Given the description of an element on the screen output the (x, y) to click on. 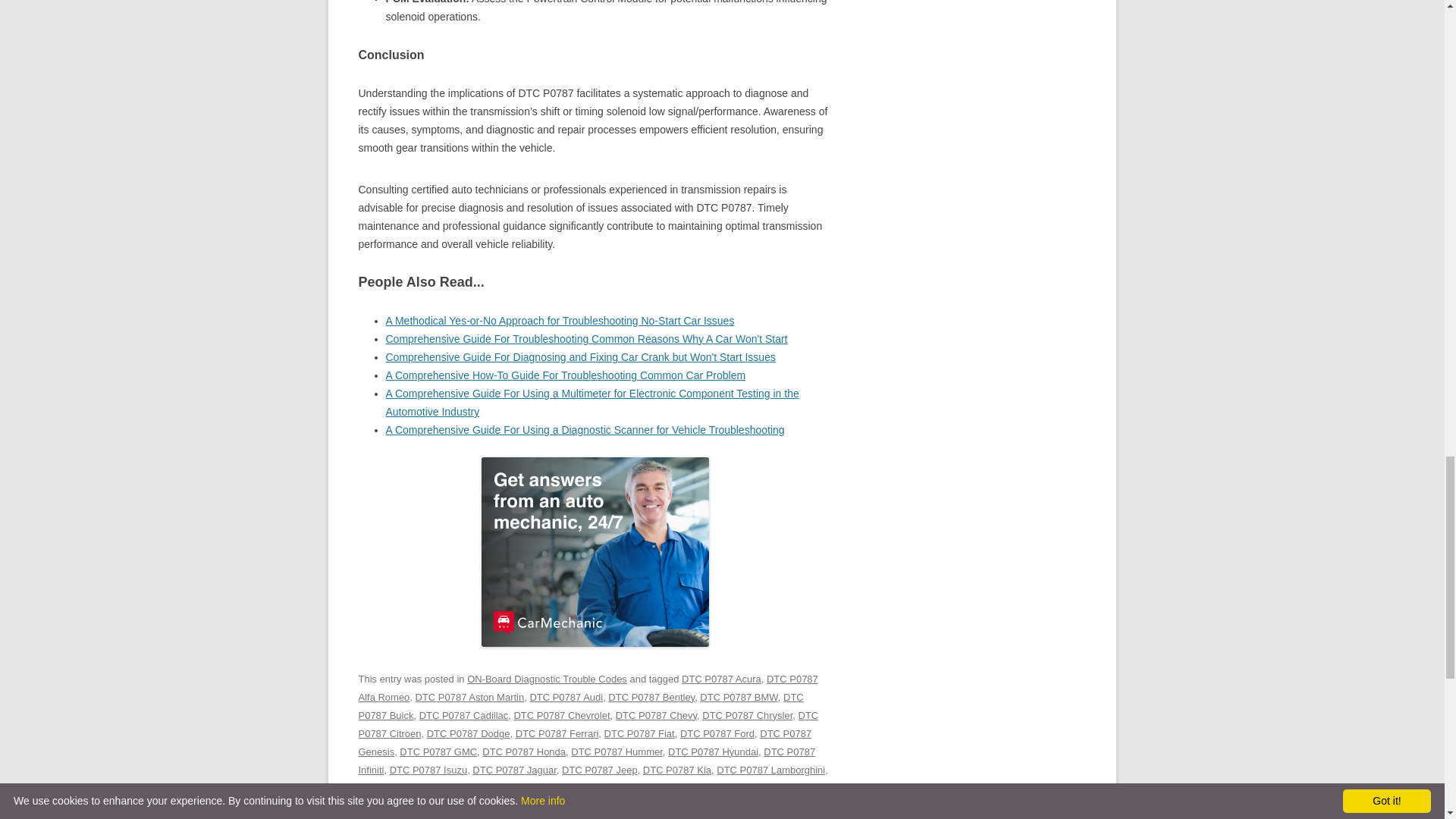
DTC P0787 Citroen (588, 724)
DTC P0787 Alfa Romeo (587, 687)
DTC P0787 Chrysler (746, 715)
ON-Board Diagnostic Trouble Codes (547, 678)
DTC P0787 Dodge (468, 733)
DTC P0787 Ford (716, 733)
DTC P0787 Audi (565, 696)
DTC P0787 Ferrari (556, 733)
DTC P0787 Genesis (584, 742)
DTC P0787 BMW (738, 696)
DTC P0787 GMC (437, 751)
DTC P0787 Acura (721, 678)
DTC P0787 Bentley (651, 696)
